Given the description of an element on the screen output the (x, y) to click on. 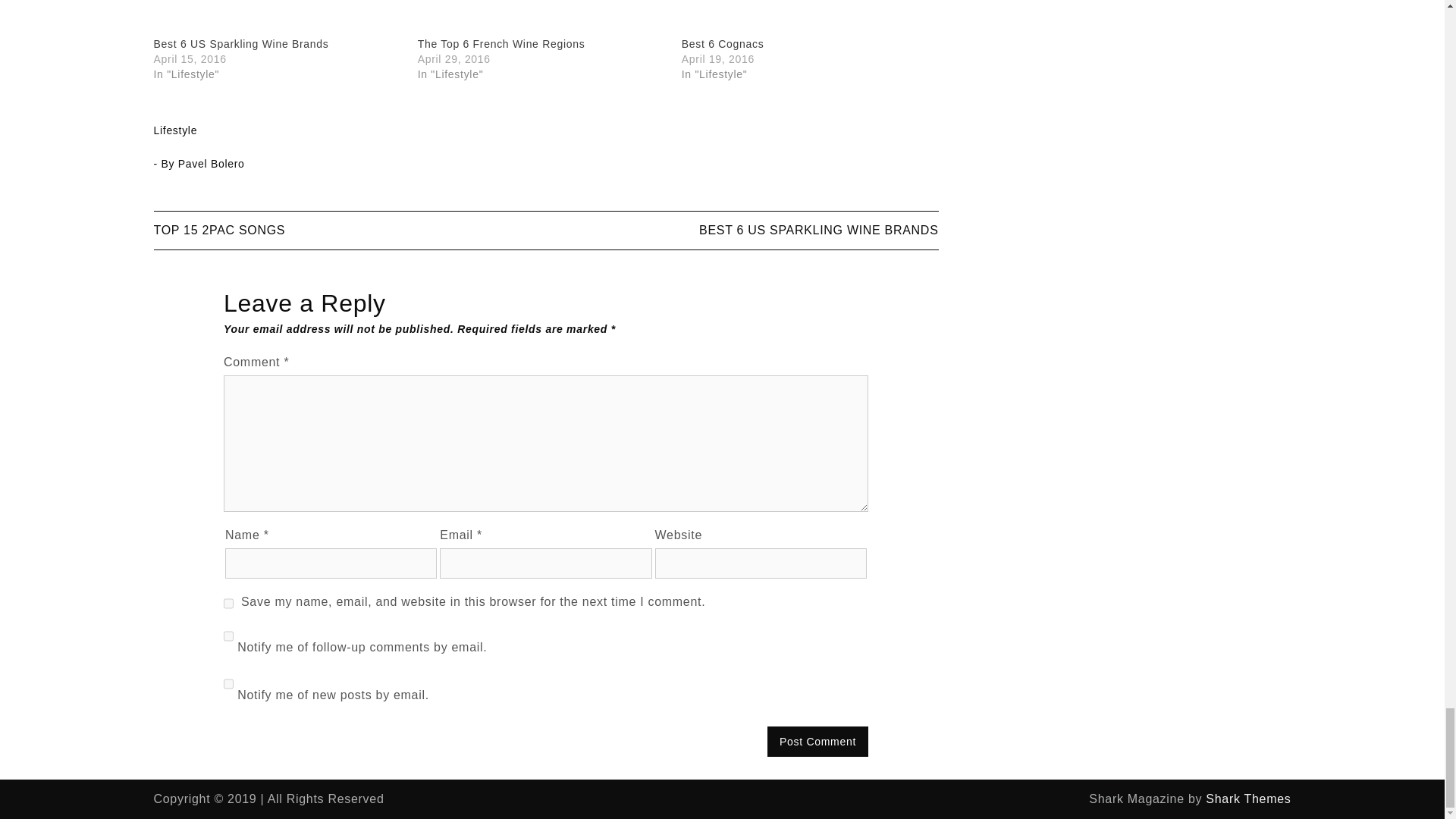
The Top 6 French Wine Regions (501, 43)
Best 6 US Sparkling Wine Brands (240, 43)
The Top 6 French Wine Regions (541, 18)
Post Comment (817, 741)
Best 6 US Sparkling Wine Brands (240, 43)
subscribe (228, 684)
The Top 6 French Wine Regions (501, 43)
subscribe (228, 635)
Best 6 Cognacs (805, 18)
Best 6 US Sparkling Wine Brands (276, 18)
yes (228, 603)
Best 6 Cognacs (722, 43)
